Given the description of an element on the screen output the (x, y) to click on. 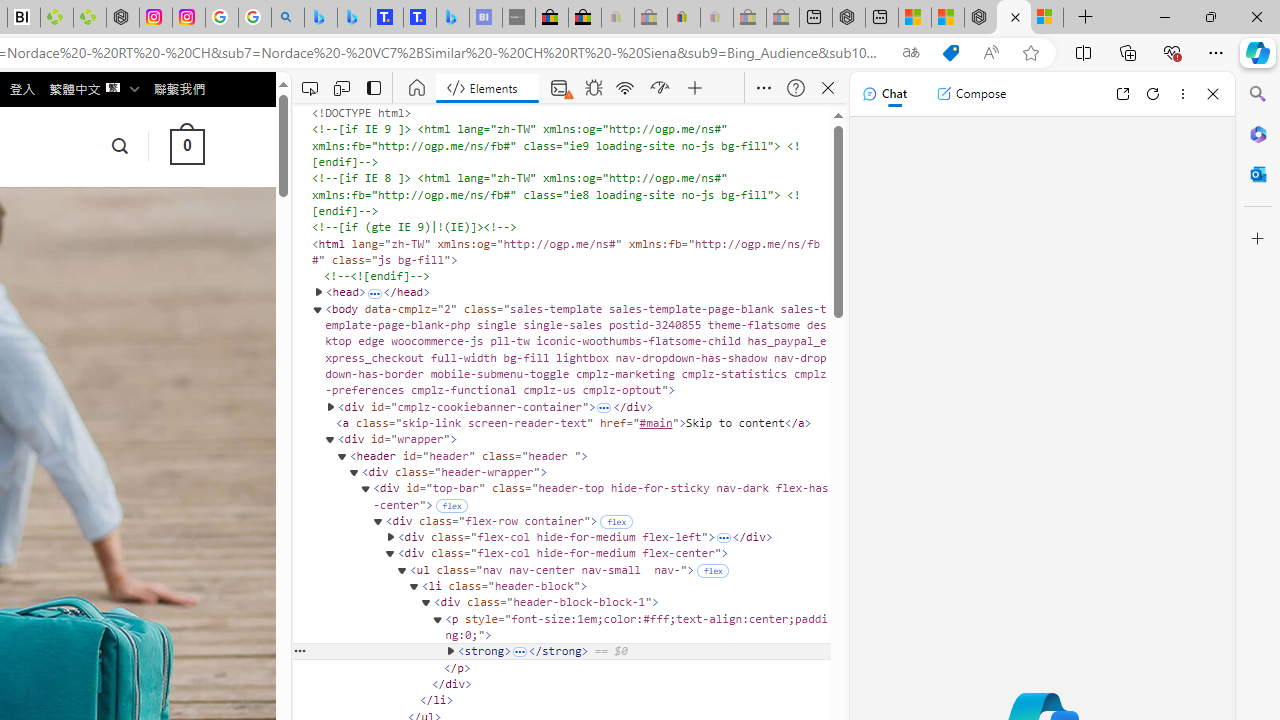
alabama high school quarterback dies - Search (287, 17)
Enable flex mode (712, 570)
Close DevTools (828, 88)
More options (1182, 93)
Copilot (Ctrl+Shift+.) (1258, 52)
Search (1258, 94)
Expand (519, 652)
Threats and offensive language policy | eBay (684, 17)
Settings and more (Alt+F) (1215, 52)
New tab (882, 17)
Microsoft Bing Travel - Shangri-La Hotel Bangkok (452, 17)
This site has coupons! Shopping in Microsoft Edge (950, 53)
